Given the description of an element on the screen output the (x, y) to click on. 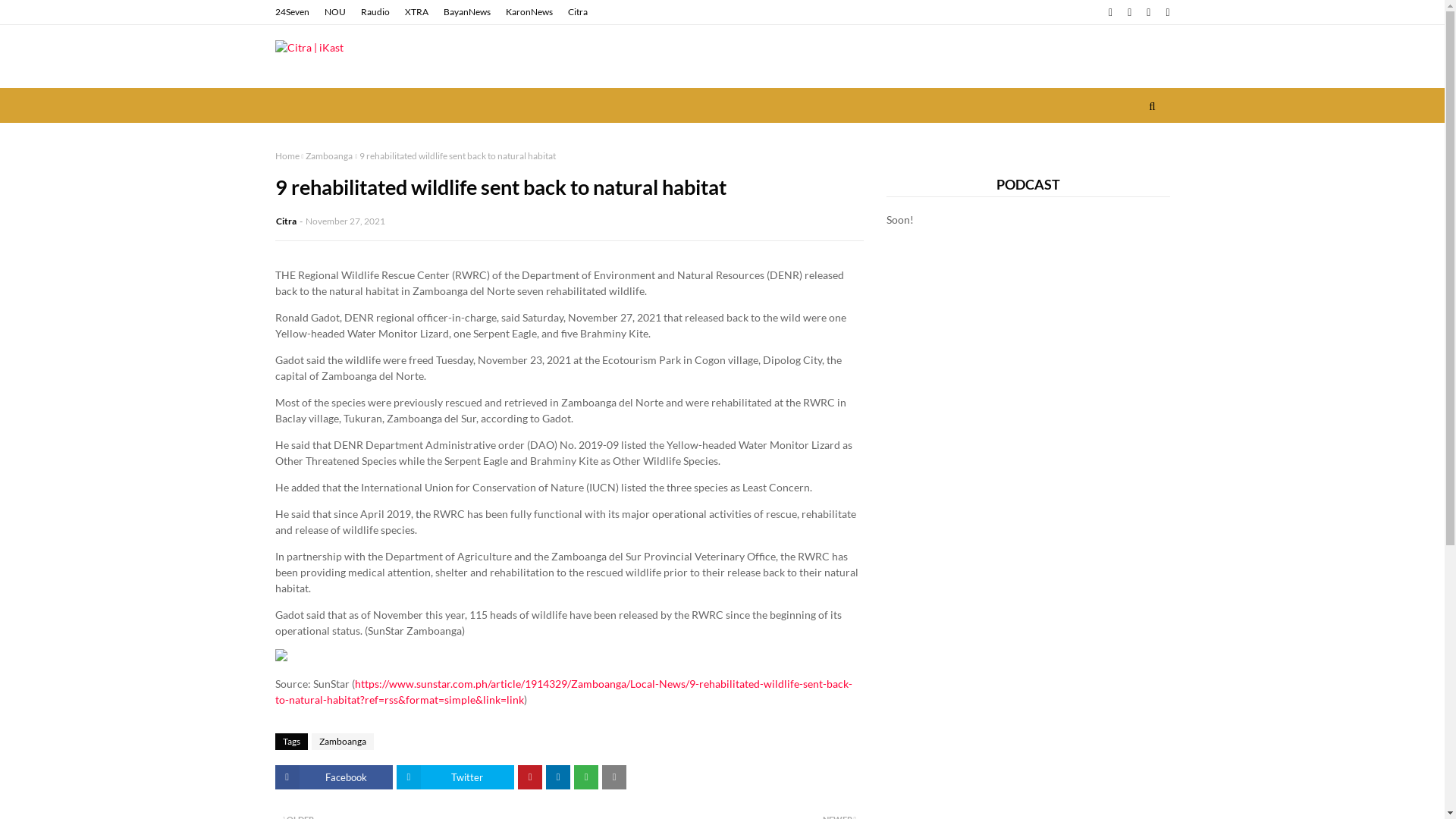
youtube Element type: hover (1165, 12)
Home Element type: text (286, 155)
24Seven Element type: text (293, 12)
KaronNews Element type: text (529, 12)
Zamboanga Element type: text (341, 741)
Raudio Element type: text (374, 12)
BayanNews Element type: text (466, 12)
NOU Element type: text (334, 12)
Twitter Element type: text (455, 777)
instagram Element type: hover (1148, 12)
Citra Element type: text (286, 220)
facebook Element type: hover (1110, 12)
Citra Element type: text (577, 12)
Zamboanga Element type: text (328, 155)
XTRA Element type: text (415, 12)
twitter Element type: hover (1129, 12)
Facebook Element type: text (333, 777)
